Given the description of an element on the screen output the (x, y) to click on. 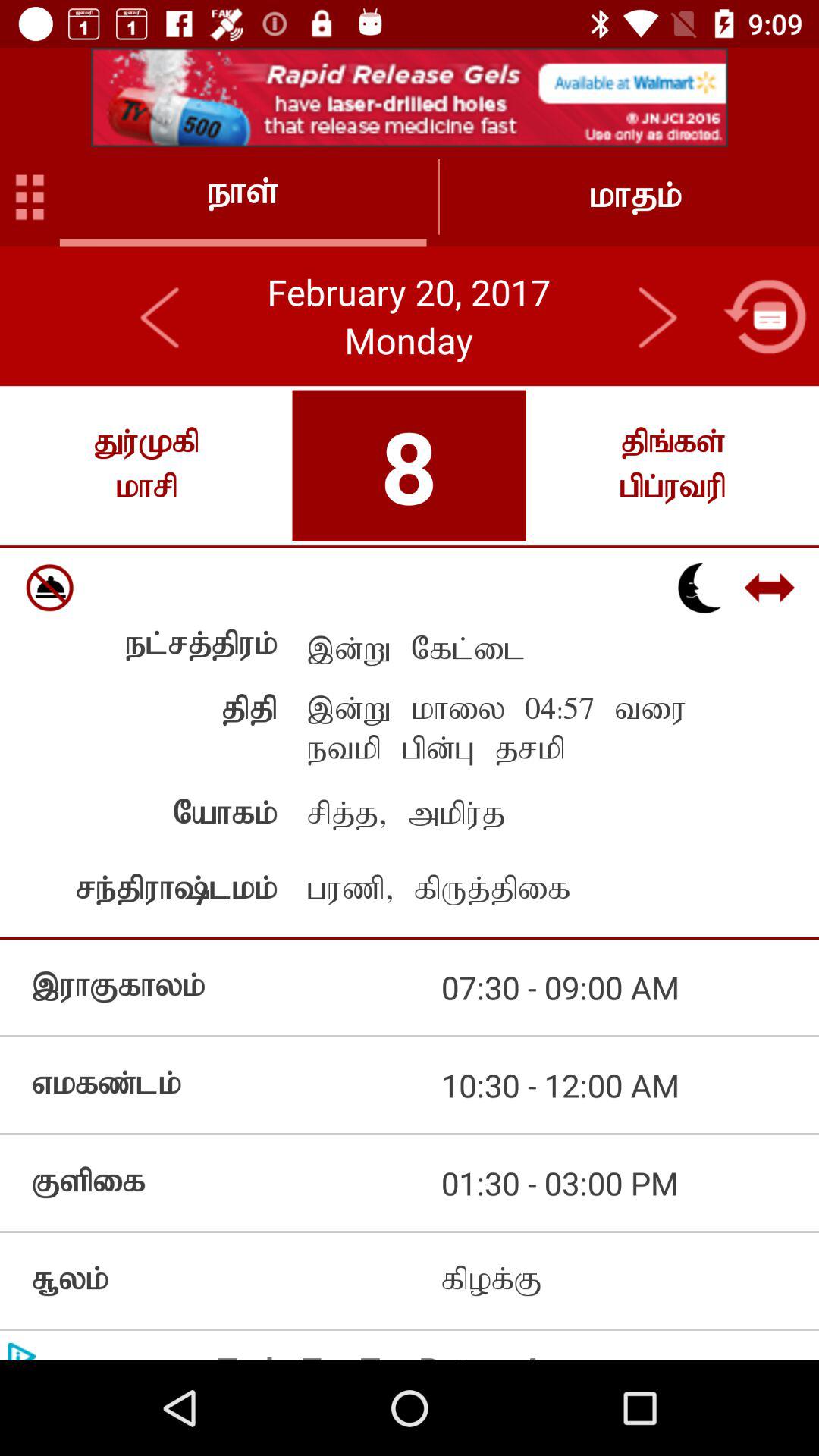
go back (160, 316)
